Given the description of an element on the screen output the (x, y) to click on. 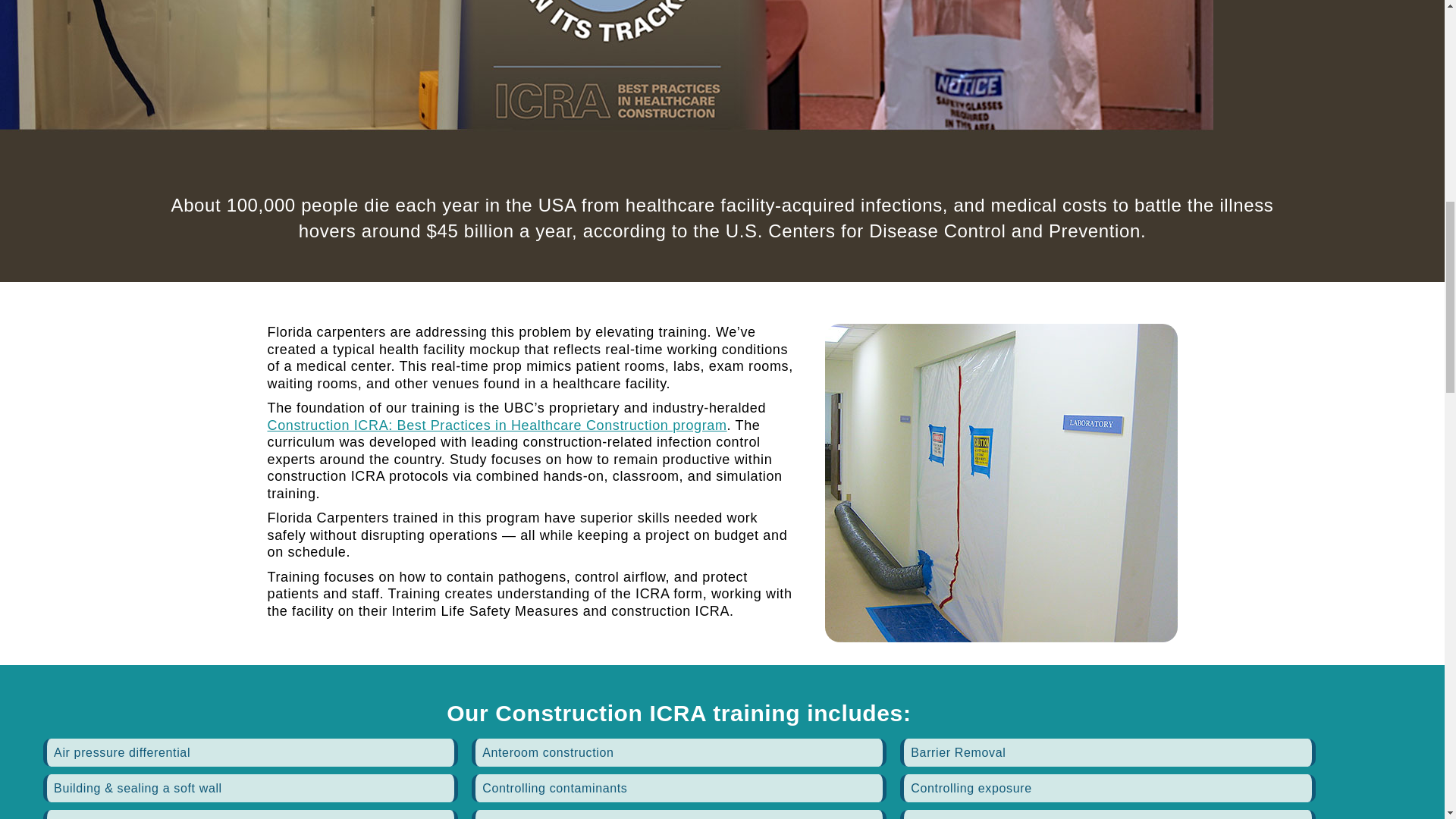
ICRA (1001, 482)
